Given the description of an element on the screen output the (x, y) to click on. 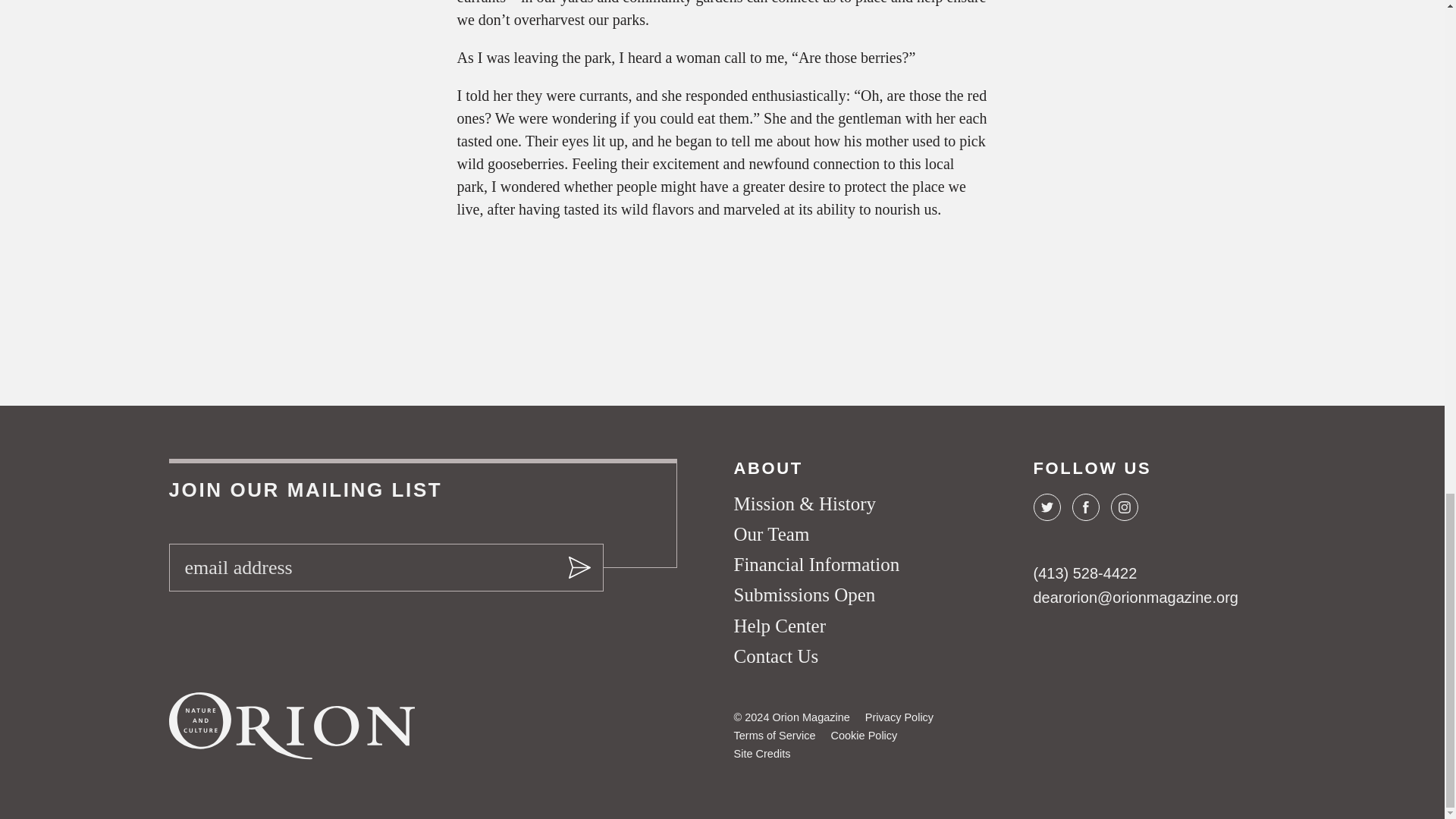
On Twitter (1045, 506)
Our Team (771, 534)
On Facebook (1085, 506)
On Instagram (1123, 506)
SIGN UP (577, 567)
Financial Information (816, 564)
